Given the description of an element on the screen output the (x, y) to click on. 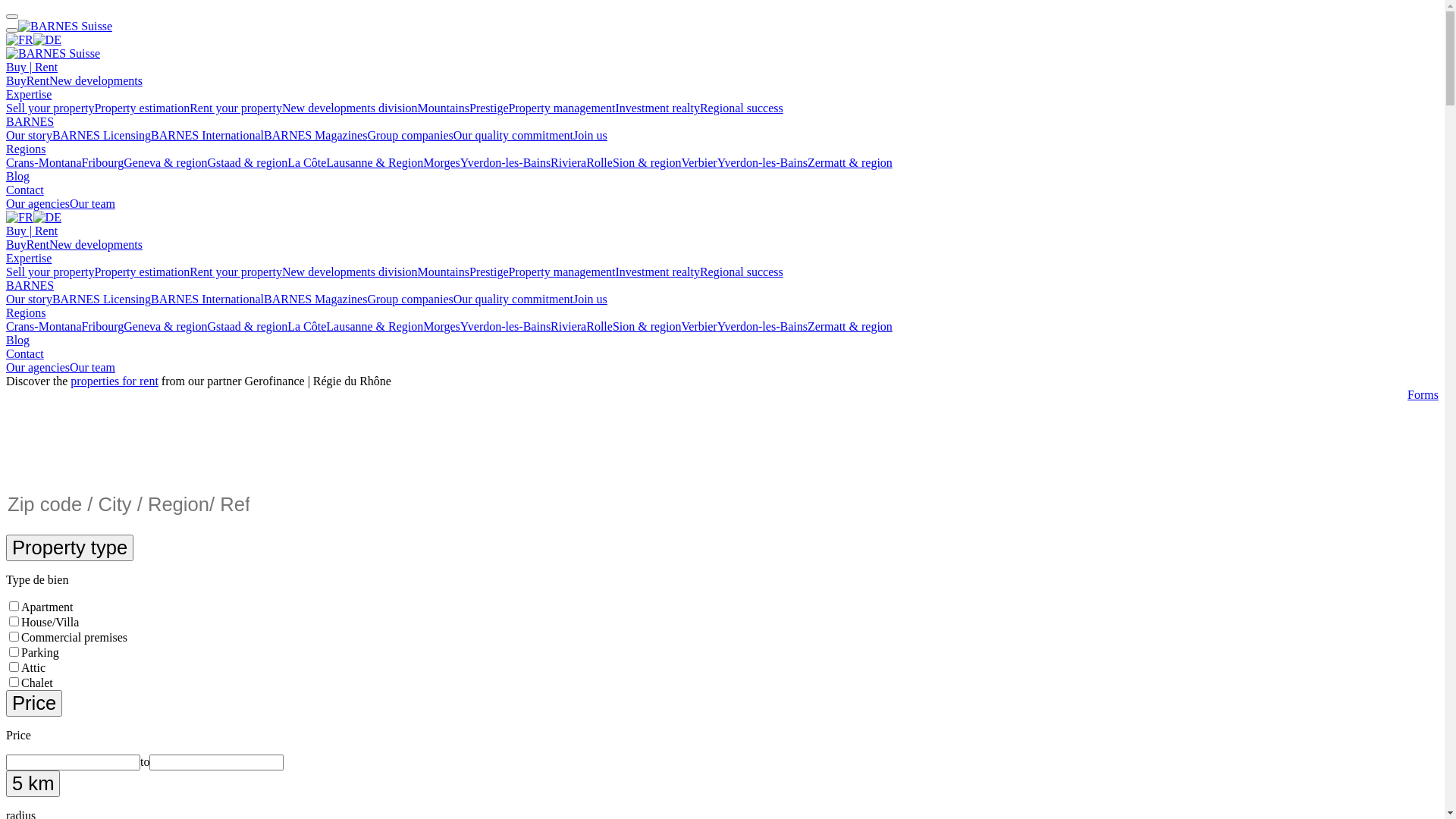
Property estimation Element type: text (141, 107)
Buy Element type: text (16, 244)
Rent Element type: text (37, 244)
Buy | Rent Element type: text (31, 66)
New developments division Element type: text (349, 107)
Our agencies Element type: text (37, 203)
Lausanne & Region Element type: text (374, 162)
Property estimation Element type: text (141, 271)
Crans-Montana Element type: text (43, 162)
Group companies Element type: text (409, 134)
New developments division Element type: text (349, 271)
Fribourg Element type: text (102, 162)
Prestige Element type: text (488, 107)
Our story Element type: text (29, 298)
Join us Element type: text (590, 298)
Forms Element type: text (1422, 394)
Expertise Element type: text (28, 93)
Yverdon-les-Bains Element type: text (762, 326)
Gstaad & region Element type: text (247, 326)
BARNES International Element type: text (206, 298)
Expertise Element type: text (28, 257)
Property management Element type: text (561, 107)
BARNES Magazines Element type: text (315, 298)
Investment realty Element type: text (657, 271)
Buy | Rent Element type: text (31, 230)
Morges Element type: text (441, 326)
Sell your property Element type: text (50, 271)
Join us Element type: text (590, 134)
Lausanne & Region Element type: text (374, 326)
Mountains Element type: text (443, 107)
Zermatt & region Element type: text (849, 326)
Our quality commitment Element type: text (513, 298)
Our team Element type: text (92, 366)
Contact Element type: text (24, 189)
Mountains Element type: text (443, 271)
Sion & region Element type: text (646, 162)
BARNES Licensing Element type: text (101, 134)
Buy Element type: text (16, 80)
Our agencies Element type: text (37, 366)
Gstaad & region Element type: text (247, 162)
Regional success Element type: text (741, 271)
BARNES Element type: text (29, 285)
Our story Element type: text (29, 134)
Yverdon-les-Bains Element type: text (505, 162)
Rent your property Element type: text (235, 107)
Sell your property Element type: text (50, 107)
BARNES Element type: text (29, 121)
BARNES Licensing Element type: text (101, 298)
BARNES Suisse Element type: hover (65, 25)
New developments Element type: text (95, 80)
Blog Element type: text (17, 339)
Riviera Element type: text (568, 162)
Price Element type: text (34, 703)
Rolle Element type: text (599, 326)
Verbier Element type: text (699, 162)
Sion & region Element type: text (646, 326)
Prestige Element type: text (488, 271)
Zermatt & region Element type: text (849, 162)
Verbier Element type: text (699, 326)
5 km Element type: text (32, 783)
BARNES International Element type: text (206, 134)
Blog Element type: text (17, 175)
Regional success Element type: text (741, 107)
Rolle Element type: text (599, 162)
Crans-Montana Element type: text (43, 326)
Rent your property Element type: text (235, 271)
Group companies Element type: text (409, 298)
BARNES Suisse Element type: hover (53, 53)
Fribourg Element type: text (102, 326)
Geneva & region Element type: text (165, 162)
New developments Element type: text (95, 244)
Contact Element type: text (24, 353)
Regions Element type: text (25, 148)
Rent Element type: text (37, 80)
Property management Element type: text (561, 271)
Property type Element type: text (69, 547)
Our quality commitment Element type: text (513, 134)
Yverdon-les-Bains Element type: text (762, 162)
Yverdon-les-Bains Element type: text (505, 326)
Morges Element type: text (441, 162)
Regions Element type: text (25, 312)
Riviera Element type: text (568, 326)
Our team Element type: text (92, 203)
Geneva & region Element type: text (165, 326)
BARNES Magazines Element type: text (315, 134)
properties for rent Element type: text (114, 380)
Investment realty Element type: text (657, 107)
